Given the description of an element on the screen output the (x, y) to click on. 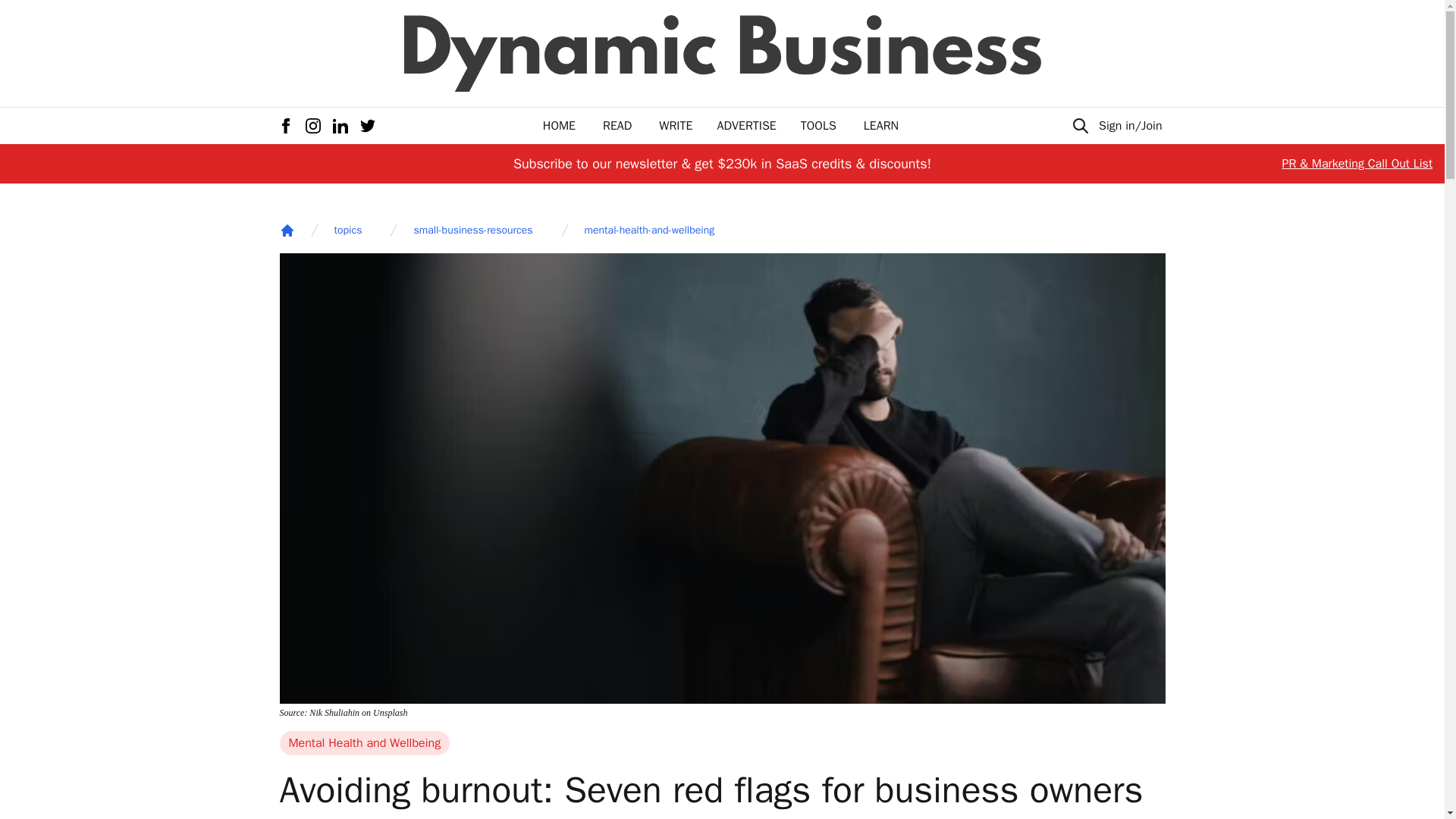
small-business-resources (472, 230)
TOOLS (817, 126)
ADVERTISE (746, 126)
LEARN (880, 126)
topics (347, 230)
mental-health-and-wellbeing (649, 230)
WRITE (676, 126)
READ (616, 126)
Mental Health and Wellbeing (364, 743)
Home (286, 230)
